Given the description of an element on the screen output the (x, y) to click on. 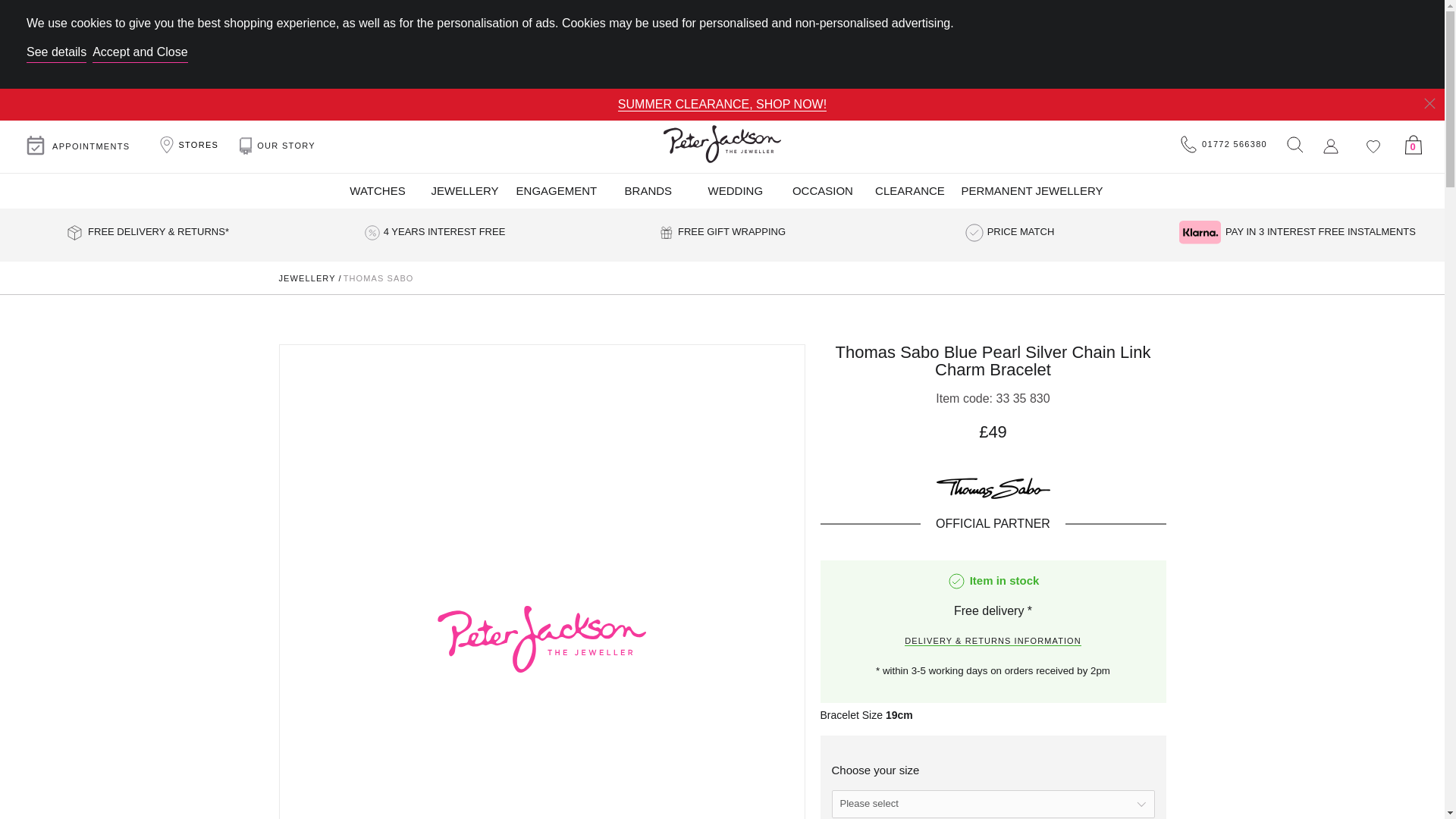
See details (55, 54)
STORES (186, 144)
APPOINTMENTS (76, 146)
WATCHES (376, 190)
See details (55, 54)
SEARCH (1294, 143)
SUMMER CLEARANCE, SHOP NOW! (722, 104)
See details (140, 54)
OUR STORY (277, 146)
ACCOUNT (1330, 145)
